Given the description of an element on the screen output the (x, y) to click on. 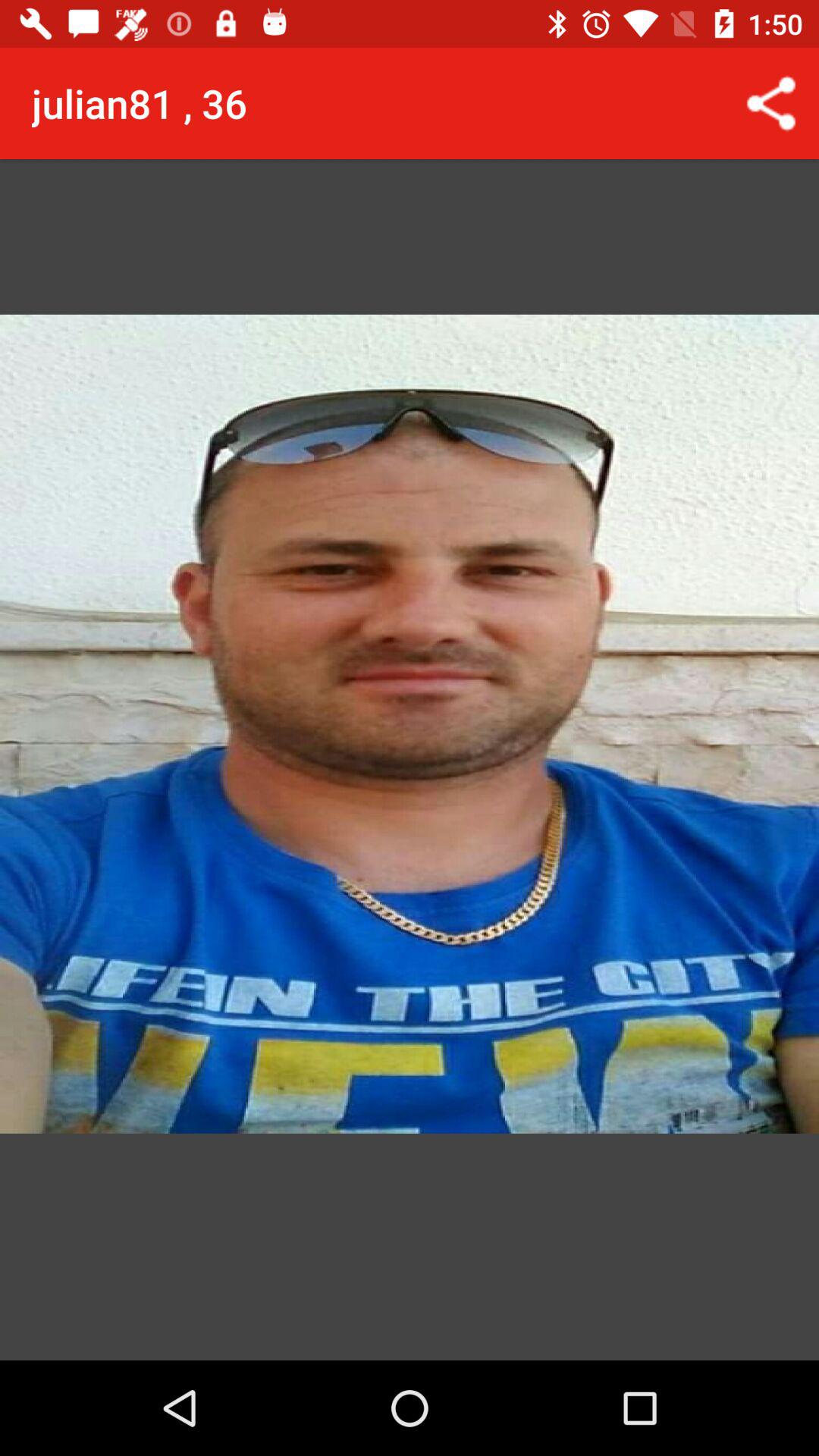
press the icon to the right of the julian81 , 36 icon (771, 103)
